Given the description of an element on the screen output the (x, y) to click on. 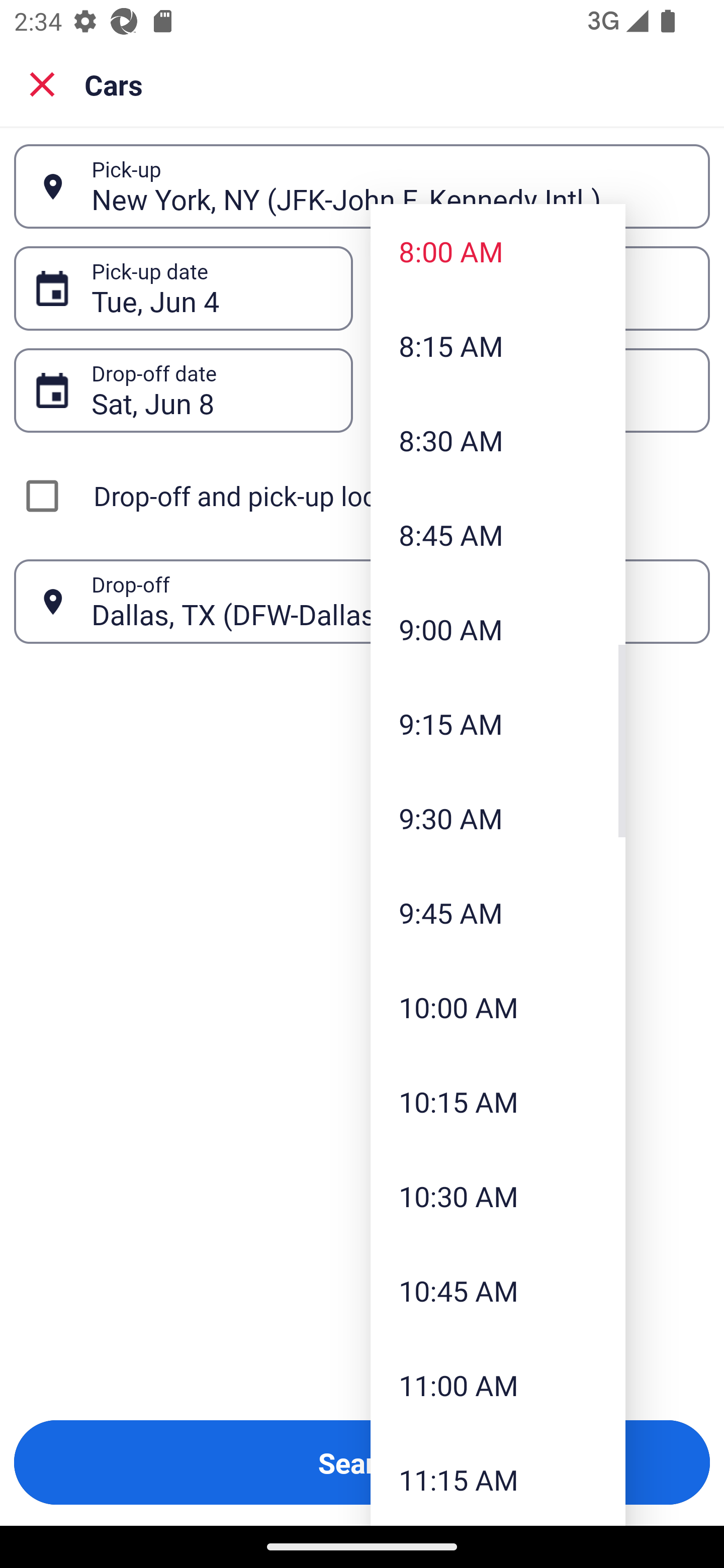
8:00 AM (497, 250)
8:15 AM (497, 345)
8:30 AM (497, 440)
8:45 AM (497, 534)
9:00 AM (497, 628)
9:15 AM (497, 723)
9:30 AM (497, 818)
9:45 AM (497, 912)
10:00 AM (497, 1006)
10:15 AM (497, 1101)
10:30 AM (497, 1196)
10:45 AM (497, 1290)
11:00 AM (497, 1384)
11:15 AM (497, 1478)
